Given the description of an element on the screen output the (x, y) to click on. 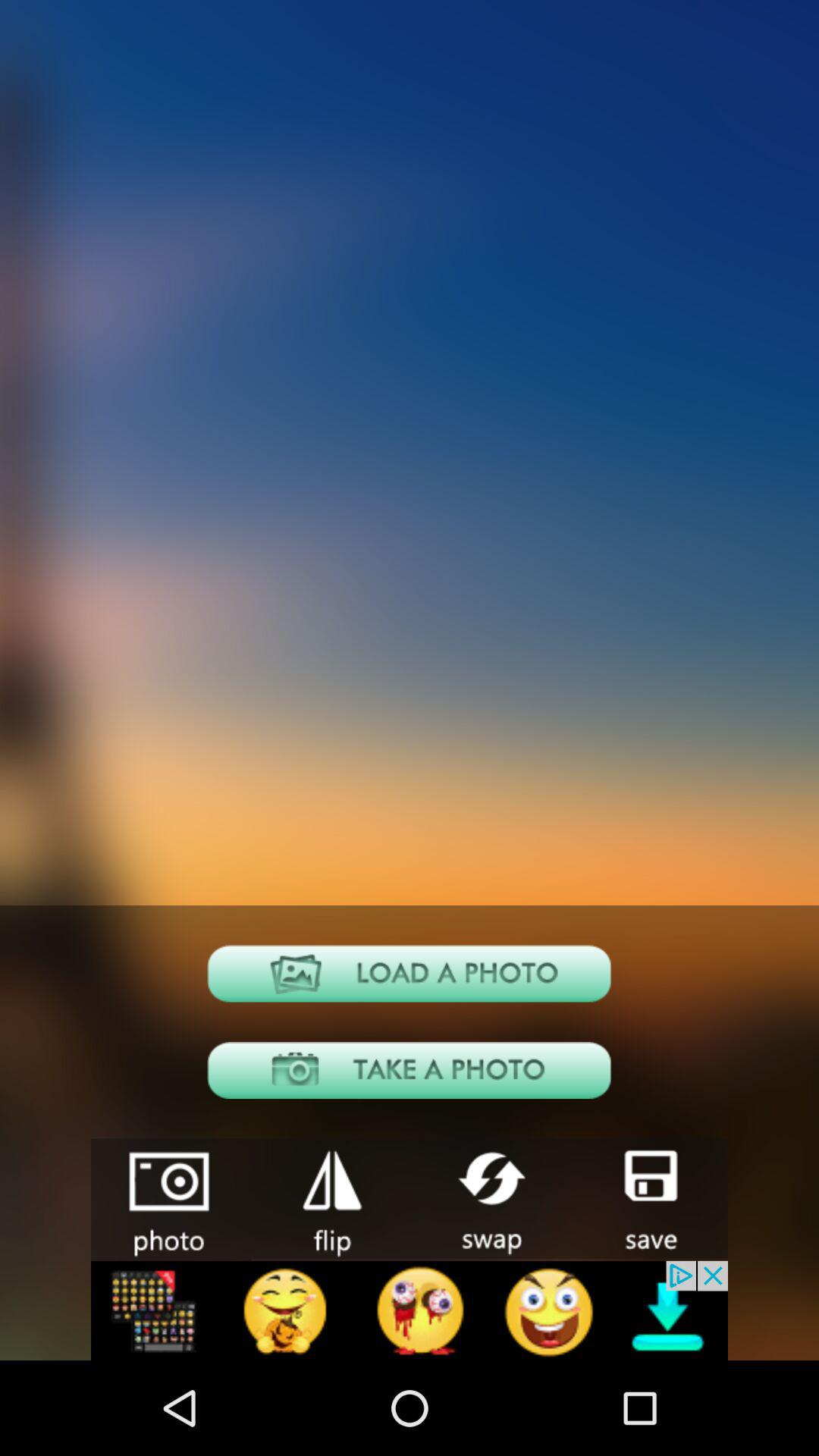
swap icon (488, 1198)
